Given the description of an element on the screen output the (x, y) to click on. 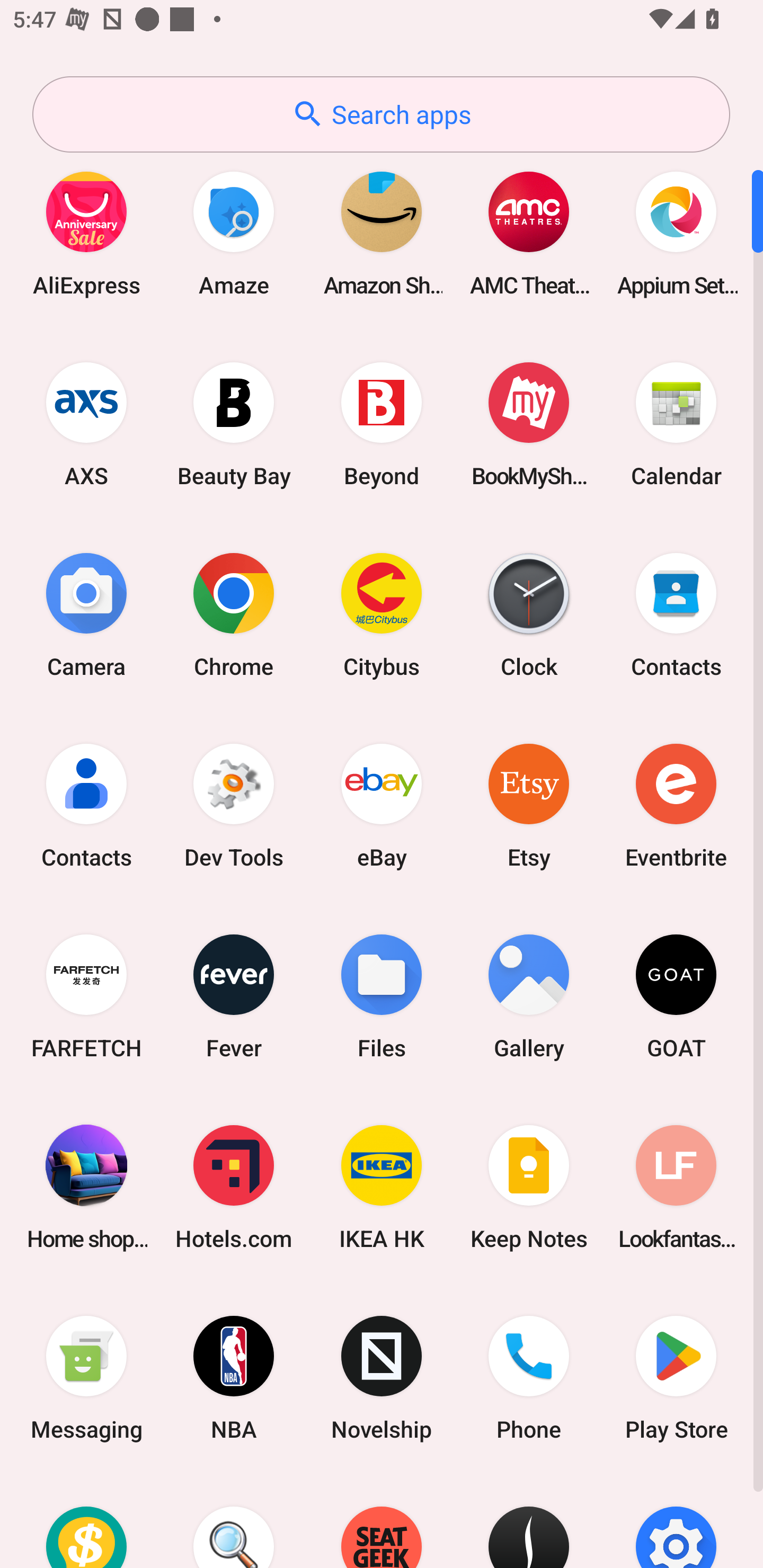
  Search apps (381, 114)
AliExpress (86, 233)
Amaze (233, 233)
Amazon Shopping (381, 233)
AMC Theatres (528, 233)
Appium Settings (676, 233)
AXS (86, 424)
Beauty Bay (233, 424)
Beyond (381, 424)
BookMyShow (528, 424)
Calendar (676, 424)
Camera (86, 614)
Chrome (233, 614)
Citybus (381, 614)
Clock (528, 614)
Contacts (676, 614)
Contacts (86, 805)
Dev Tools (233, 805)
eBay (381, 805)
Etsy (528, 805)
Eventbrite (676, 805)
FARFETCH (86, 996)
Fever (233, 996)
Files (381, 996)
Gallery (528, 996)
GOAT (676, 996)
Home shopping (86, 1186)
Hotels.com (233, 1186)
IKEA HK (381, 1186)
Keep Notes (528, 1186)
Lookfantastic (676, 1186)
Messaging (86, 1377)
NBA (233, 1377)
Novelship (381, 1377)
Phone (528, 1377)
Play Store (676, 1377)
Price (86, 1520)
Search (233, 1520)
SeatGeek (381, 1520)
Sephora (528, 1520)
Settings (676, 1520)
